Given the description of an element on the screen output the (x, y) to click on. 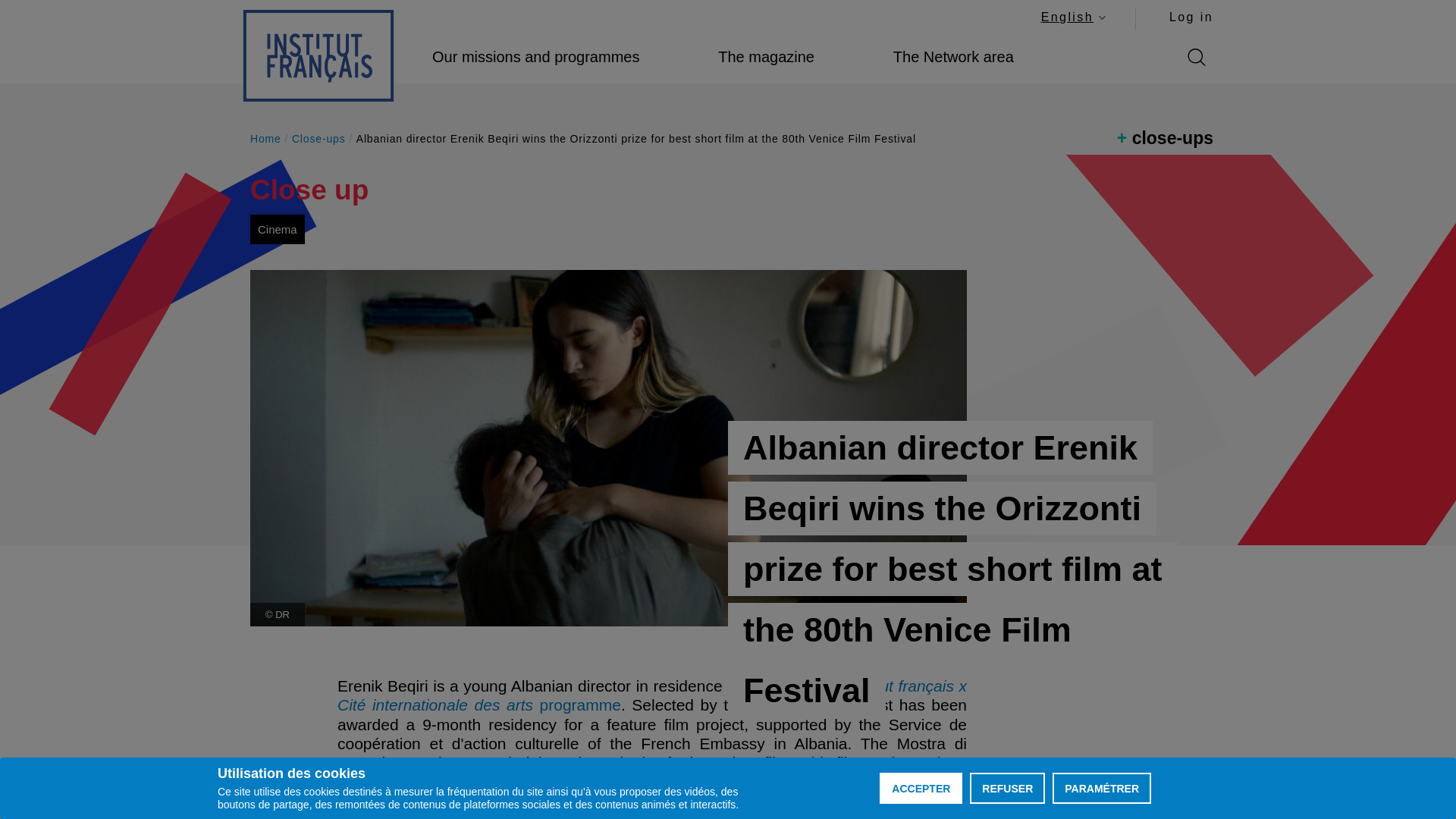
REFUSER (1007, 788)
The magazine (766, 57)
ACCEPTER (920, 788)
Log in (1190, 16)
Skip to main content (1071, 16)
Home (535, 57)
Accept cookies (318, 55)
